Given the description of an element on the screen output the (x, y) to click on. 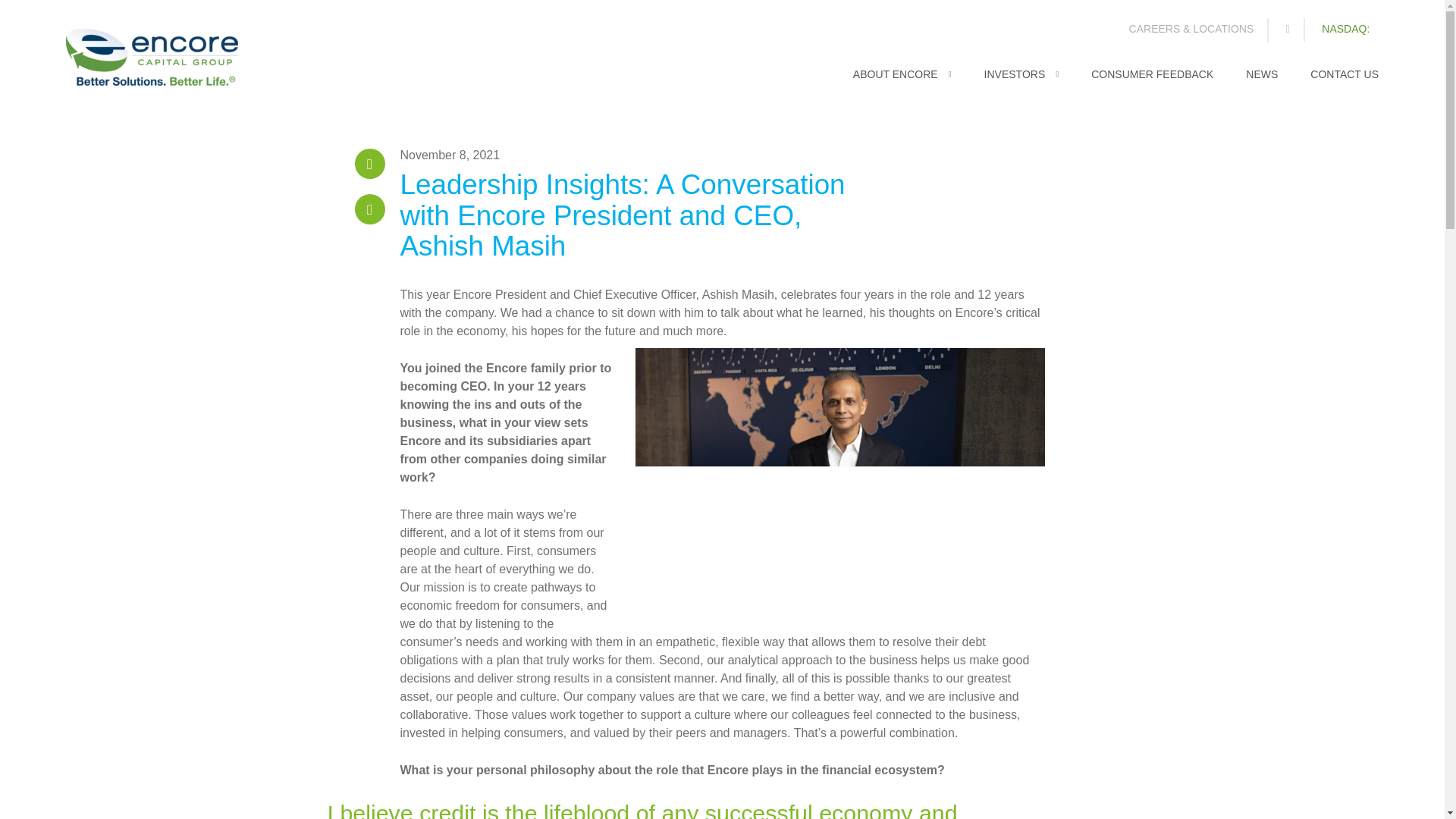
INVESTORS (1021, 81)
CONSUMER FEEDBACK (1151, 81)
NEWS (1262, 81)
ABOUT ENCORE (902, 81)
CONTACT US (1344, 81)
